Given the description of an element on the screen output the (x, y) to click on. 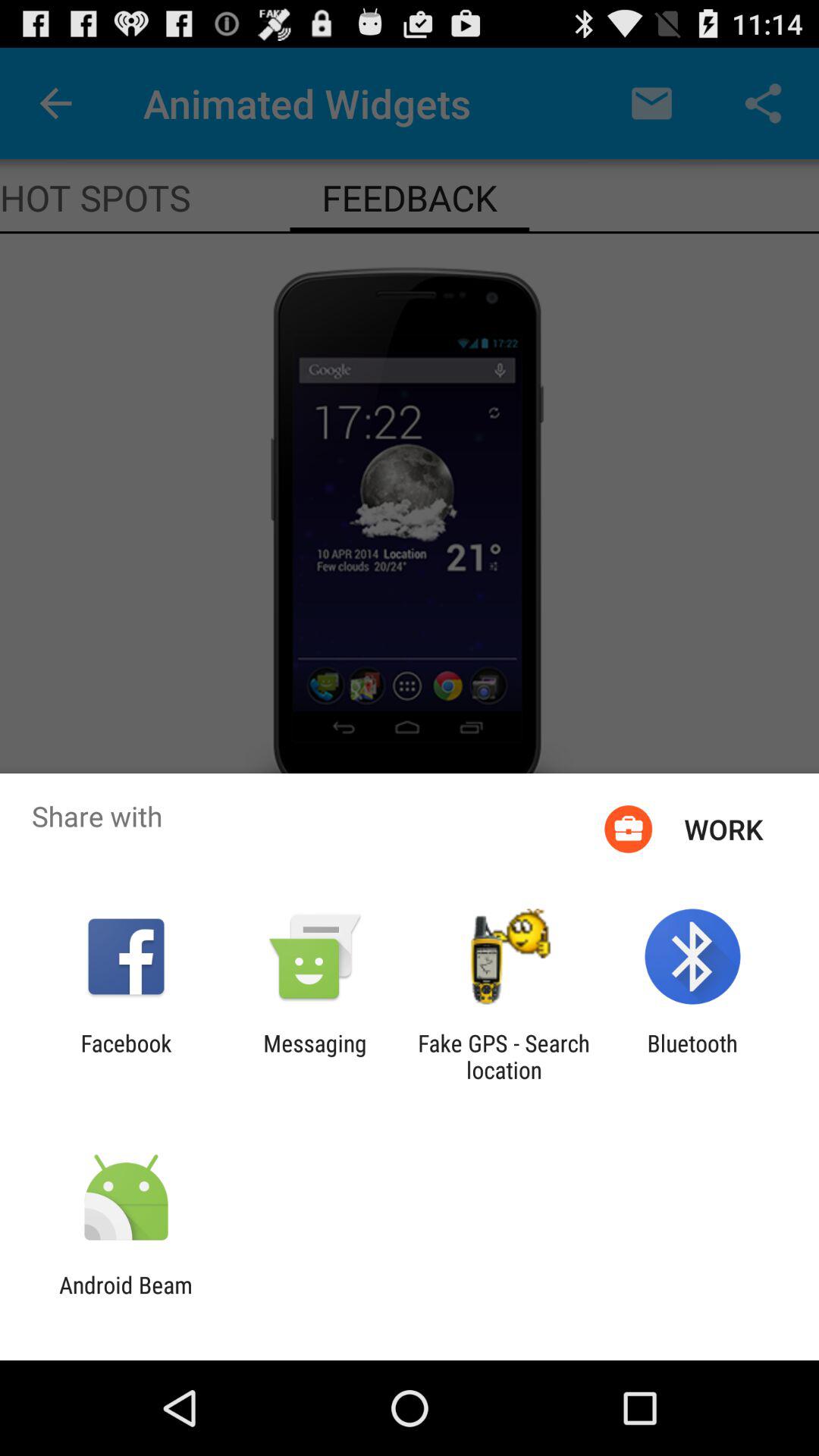
select item at the bottom right corner (692, 1056)
